Given the description of an element on the screen output the (x, y) to click on. 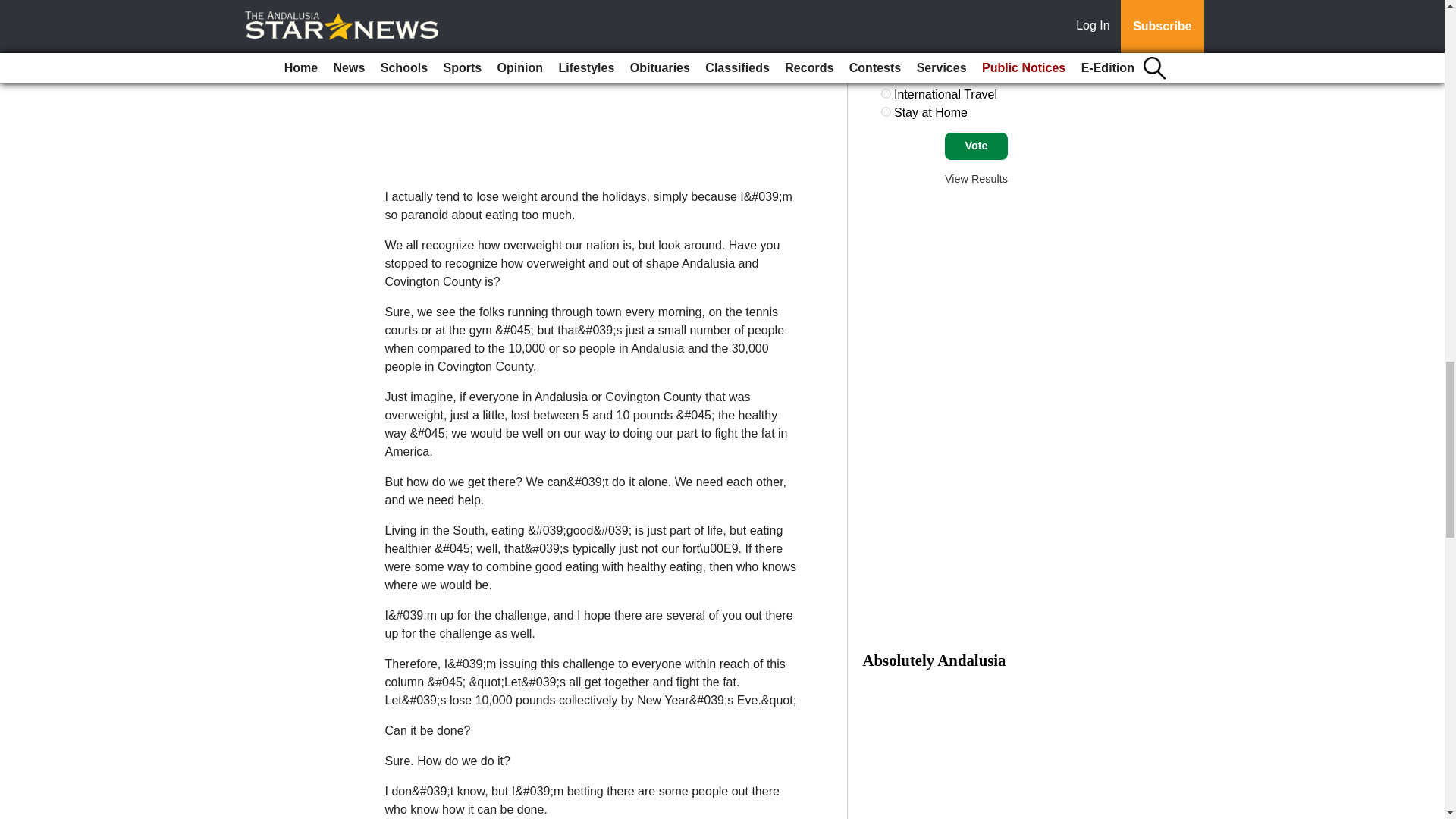
745 (885, 39)
748 (885, 93)
View Results (975, 178)
749 (885, 112)
746 (885, 57)
747 (885, 75)
View Results Of This Poll (975, 178)
   Vote    (975, 145)
744 (885, 20)
